Given the description of an element on the screen output the (x, y) to click on. 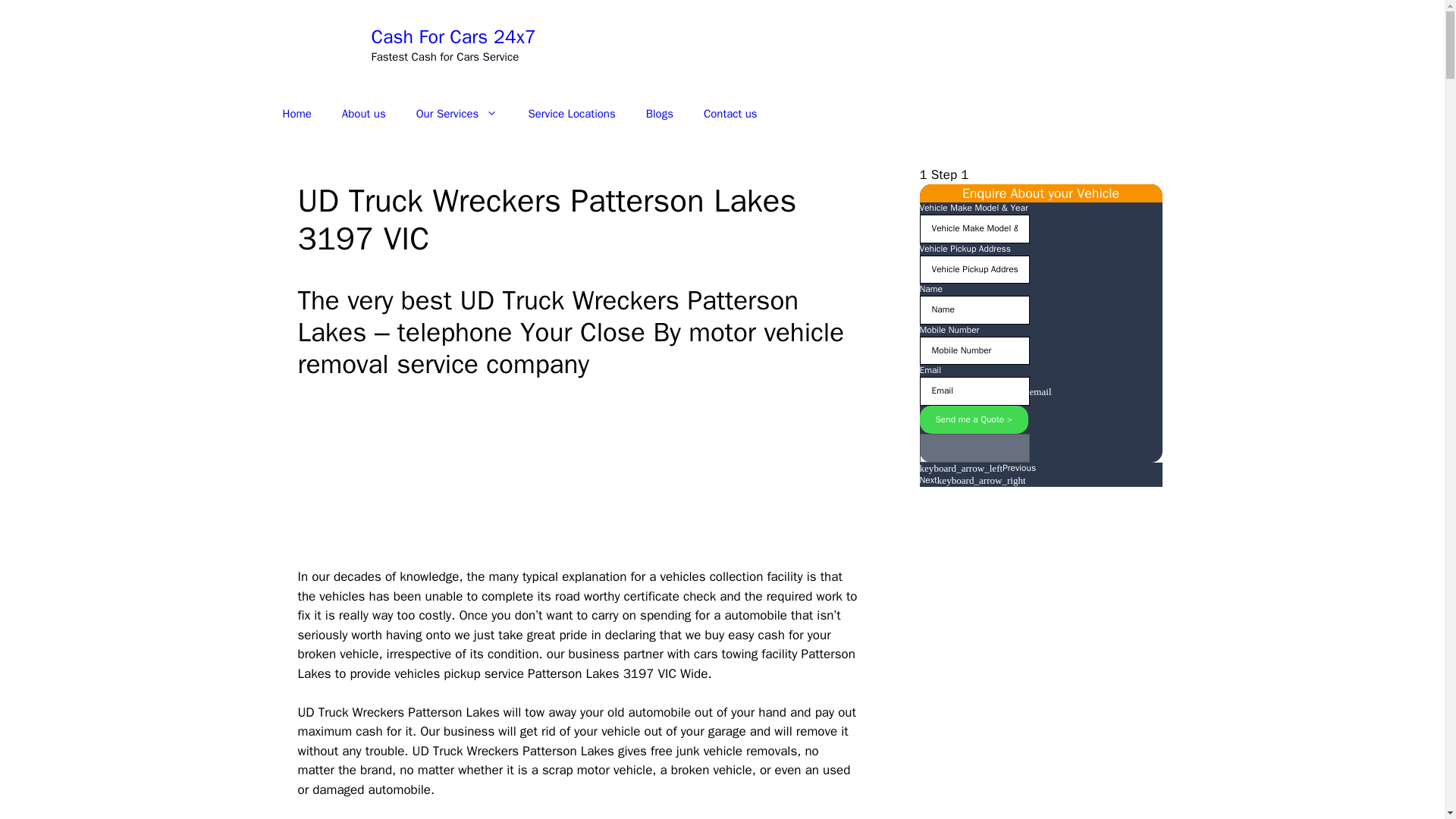
Service Locations (571, 113)
Our Services (457, 113)
About us (363, 113)
UD Truck Wreckers Patterson Lakes 3197 VIC 1 (529, 477)
Home (296, 113)
Cash For Cars 24x7 (453, 36)
Contact us (730, 113)
Blogs (659, 113)
0413 820 969 (1043, 45)
